Given the description of an element on the screen output the (x, y) to click on. 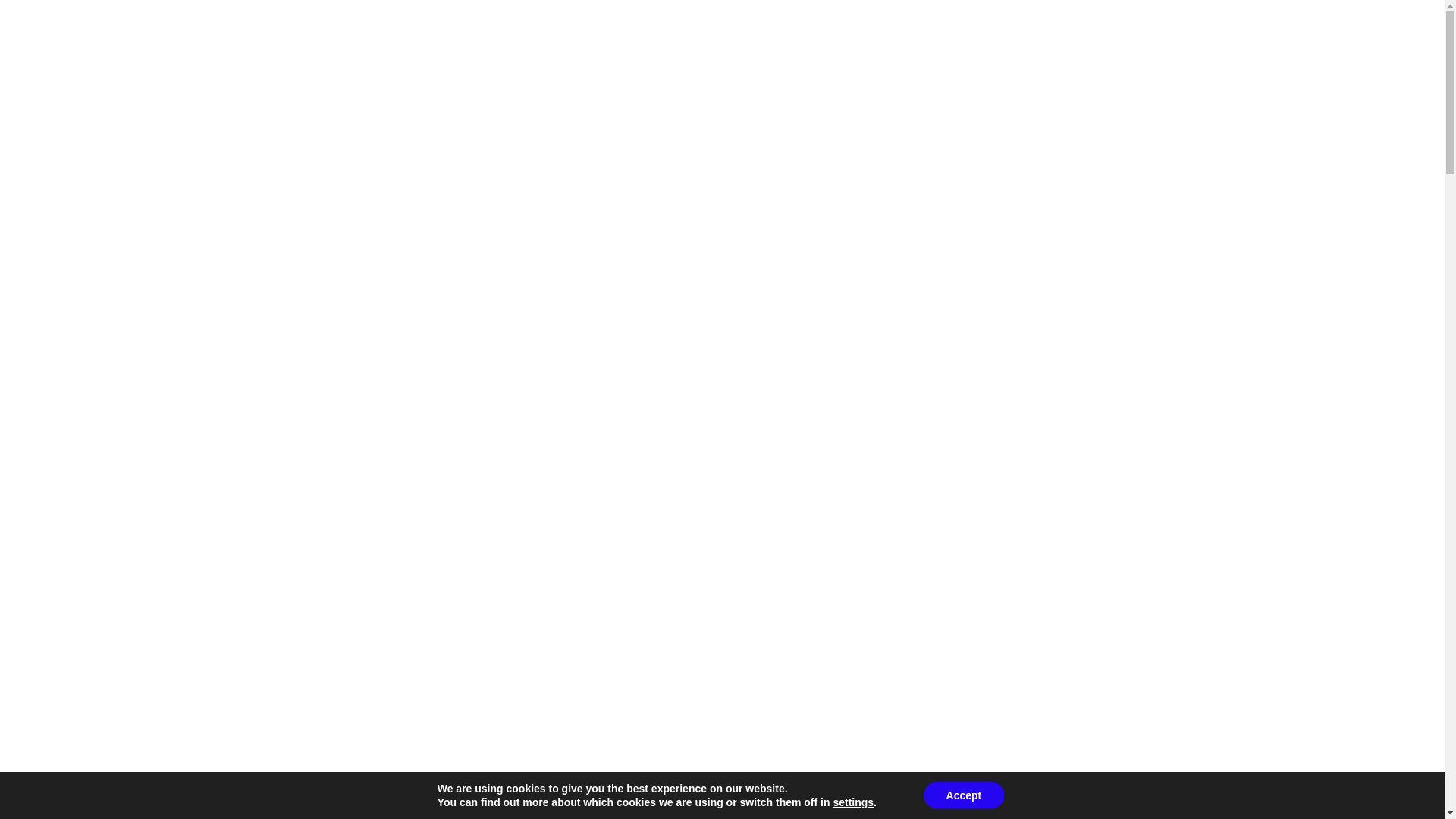
settings (852, 802)
Accept (963, 795)
